Given the description of an element on the screen output the (x, y) to click on. 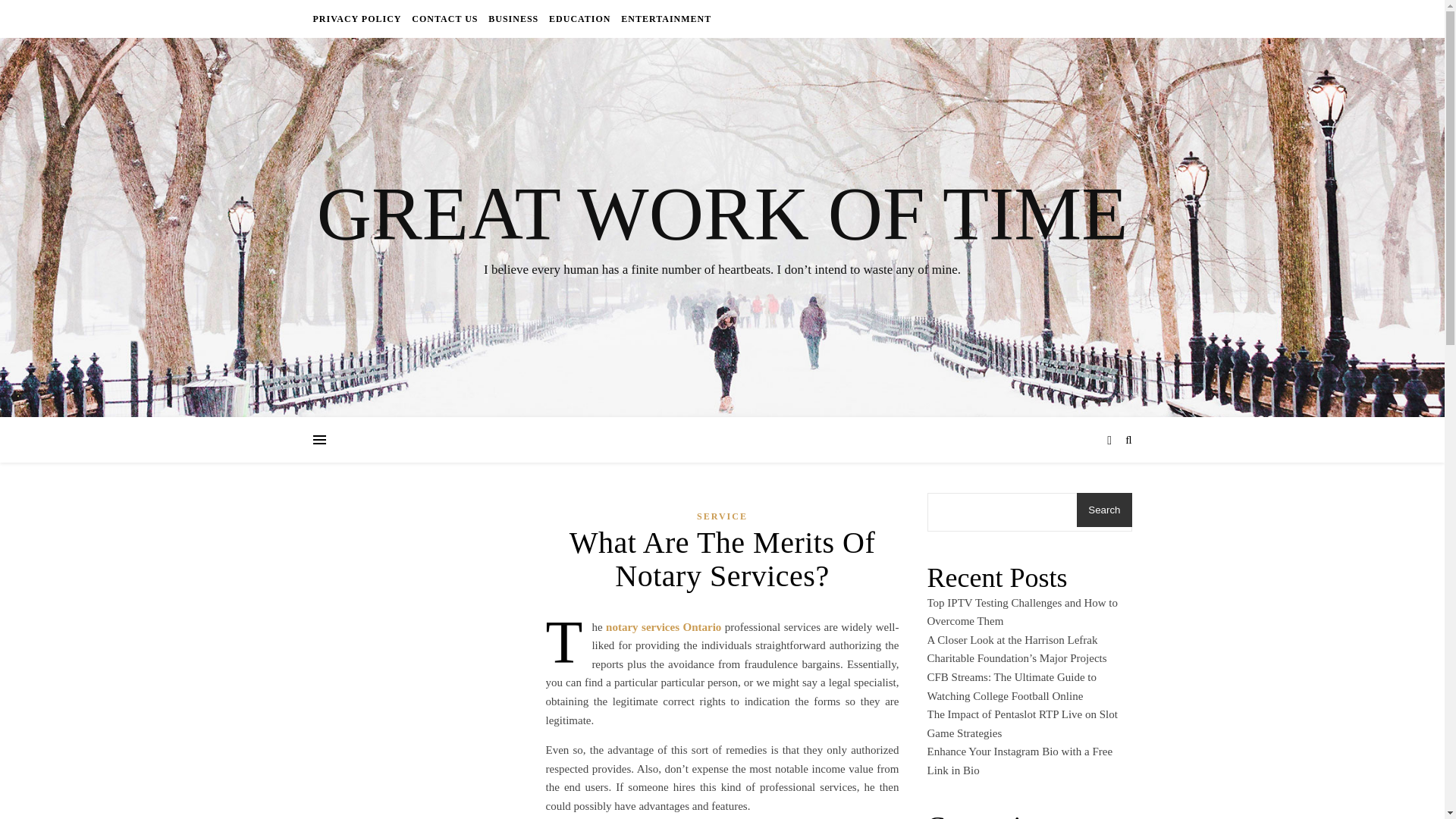
Top IPTV Testing Challenges and How to Overcome Them (1022, 612)
SERVICE (722, 516)
EDUCATION (579, 18)
ENTERTAINMENT (664, 18)
CONTACT US (444, 18)
Search (1104, 510)
PRIVACY POLICY (358, 18)
The Impact of Pentaslot RTP Live on Slot Game Strategies (1021, 723)
notary services Ontario (662, 626)
BUSINESS (512, 18)
Enhance Your Instagram Bio with a Free Link in Bio (1019, 760)
